Given the description of an element on the screen output the (x, y) to click on. 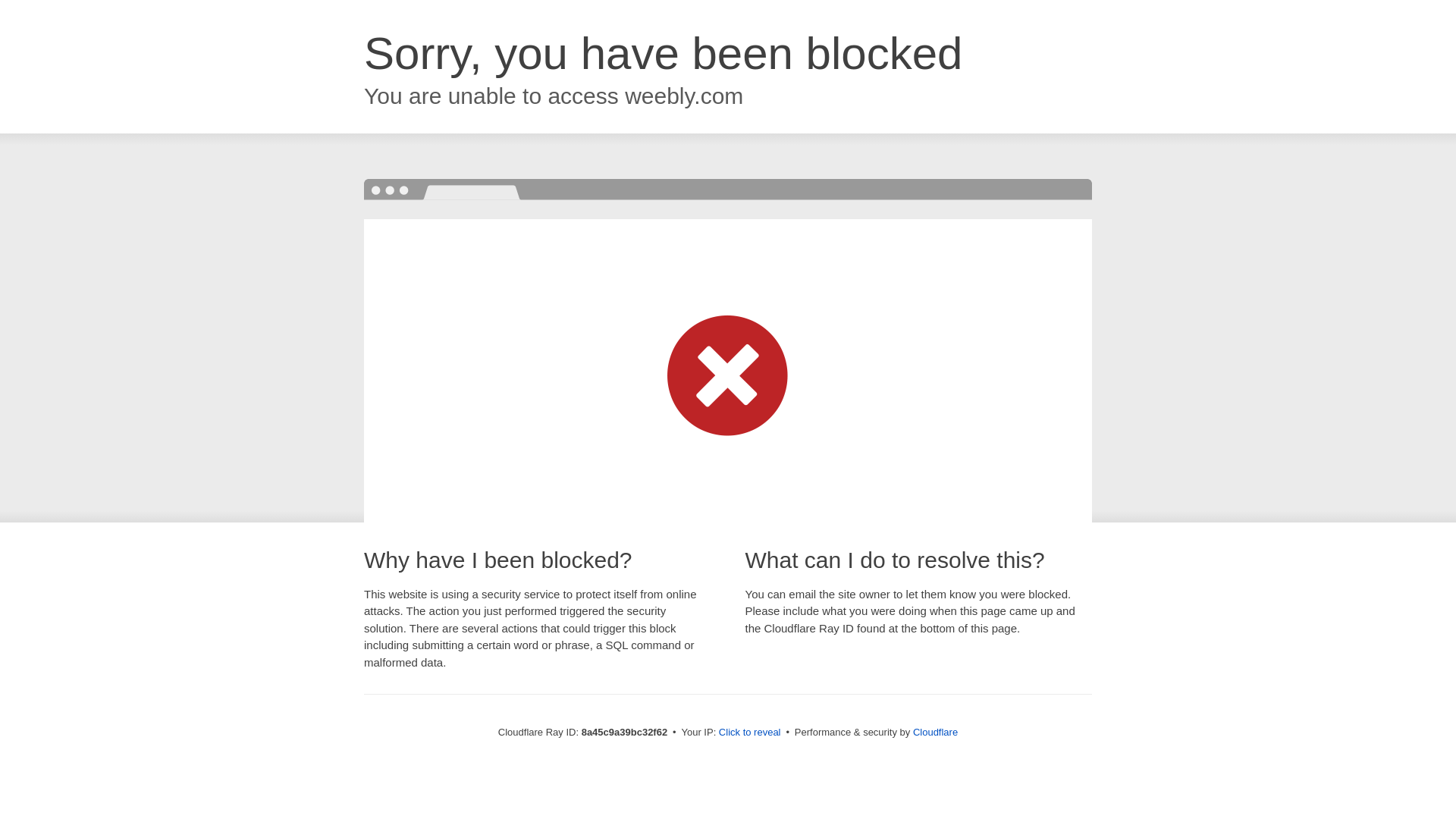
Cloudflare (935, 731)
Click to reveal (749, 732)
